Given the description of an element on the screen output the (x, y) to click on. 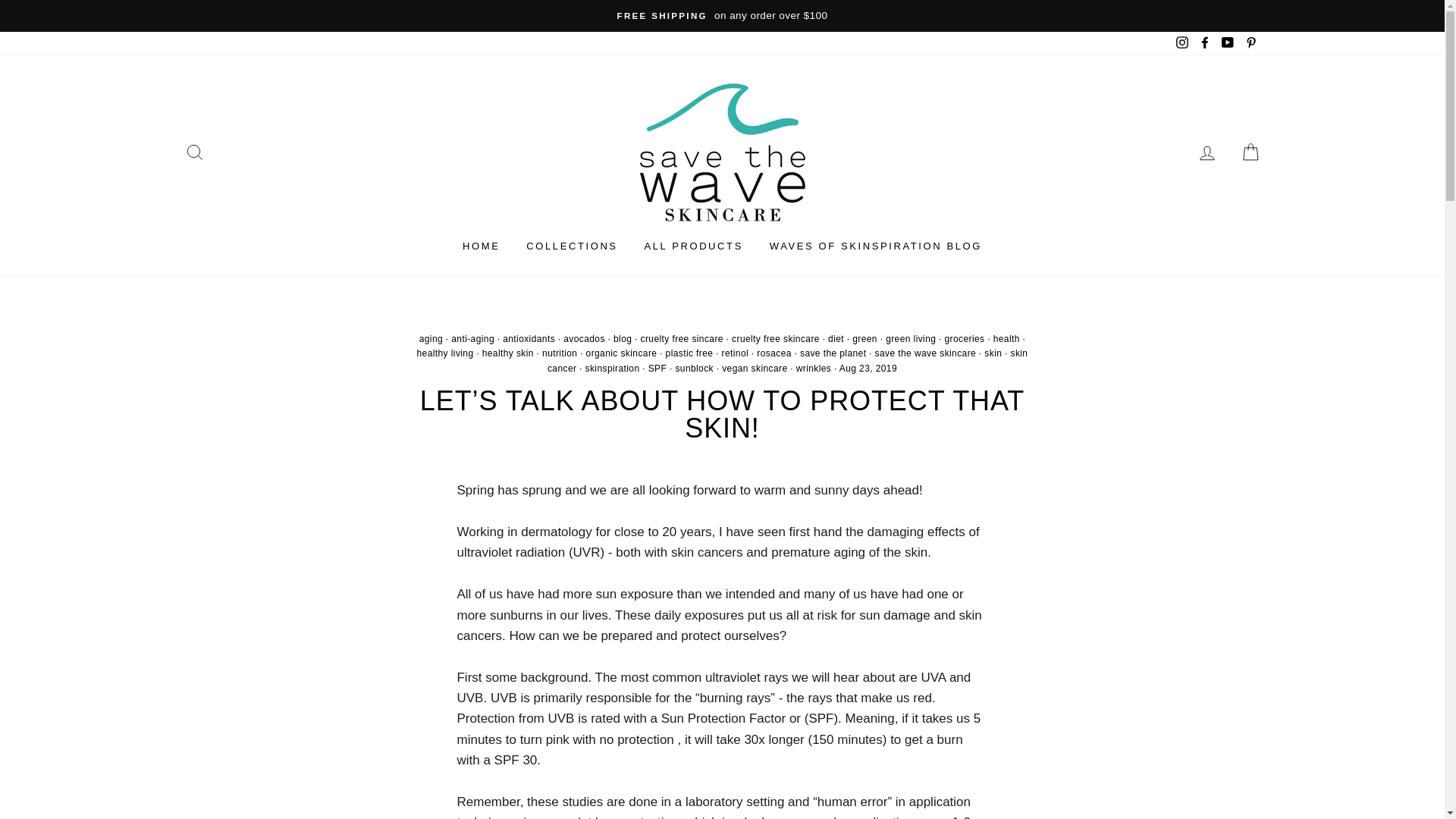
CART (1249, 151)
diet (836, 338)
cruelty free skincare (775, 338)
SEARCH (194, 151)
blog (621, 338)
ALL PRODUCTS (692, 247)
WAVES OF SKINSPIRATION BLOG (875, 247)
aging (430, 338)
COLLECTIONS (571, 247)
antioxidants (528, 338)
avocados (584, 338)
anti-aging (473, 338)
cruelty free sincare (681, 338)
LOG IN (1207, 151)
green living (910, 338)
